Given the description of an element on the screen output the (x, y) to click on. 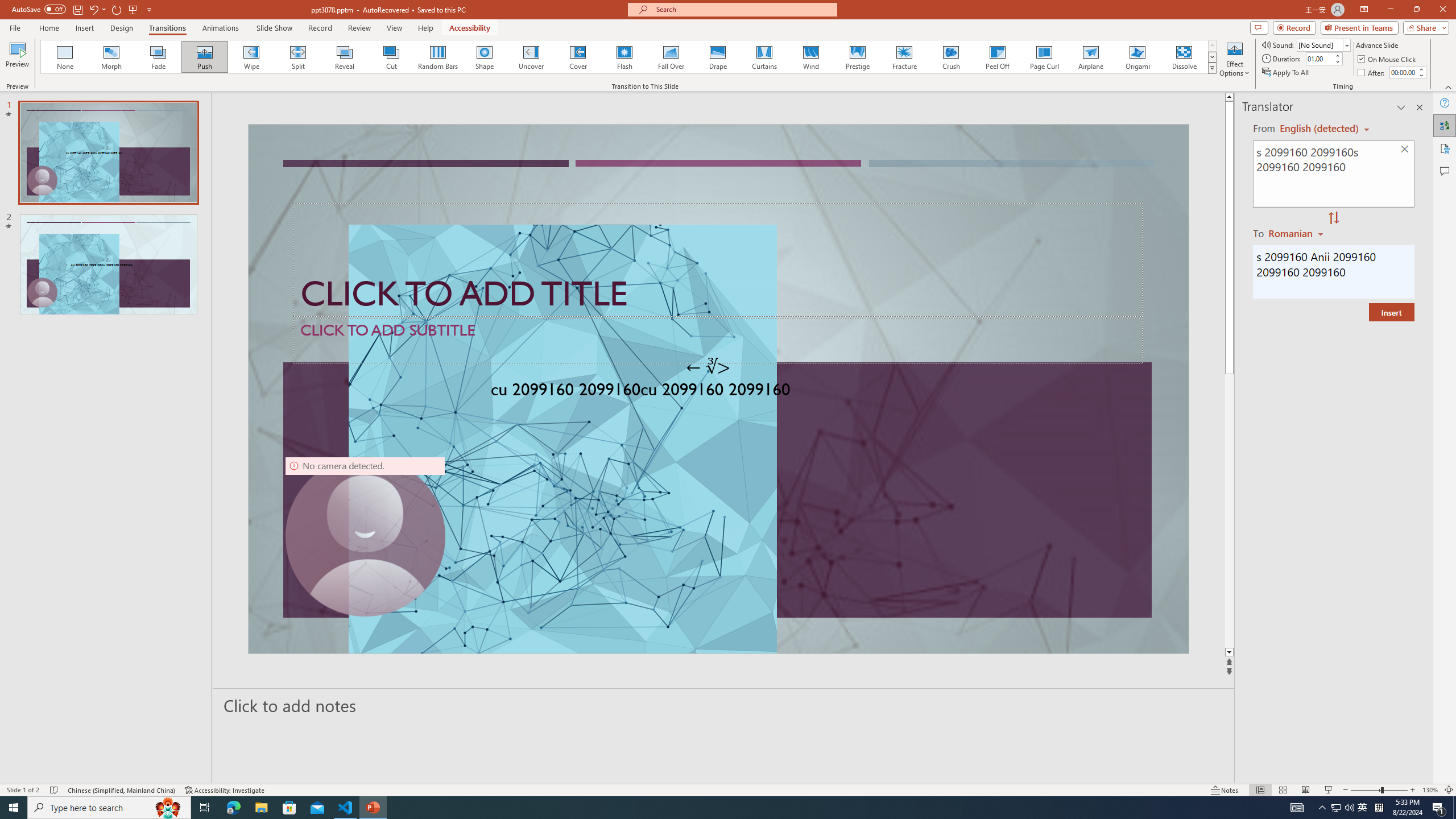
Fracture (903, 56)
Page Curl (1043, 56)
TextBox 61 (716, 391)
Romanian (1296, 232)
Flash (624, 56)
Shape (484, 56)
After (1403, 72)
